Given the description of an element on the screen output the (x, y) to click on. 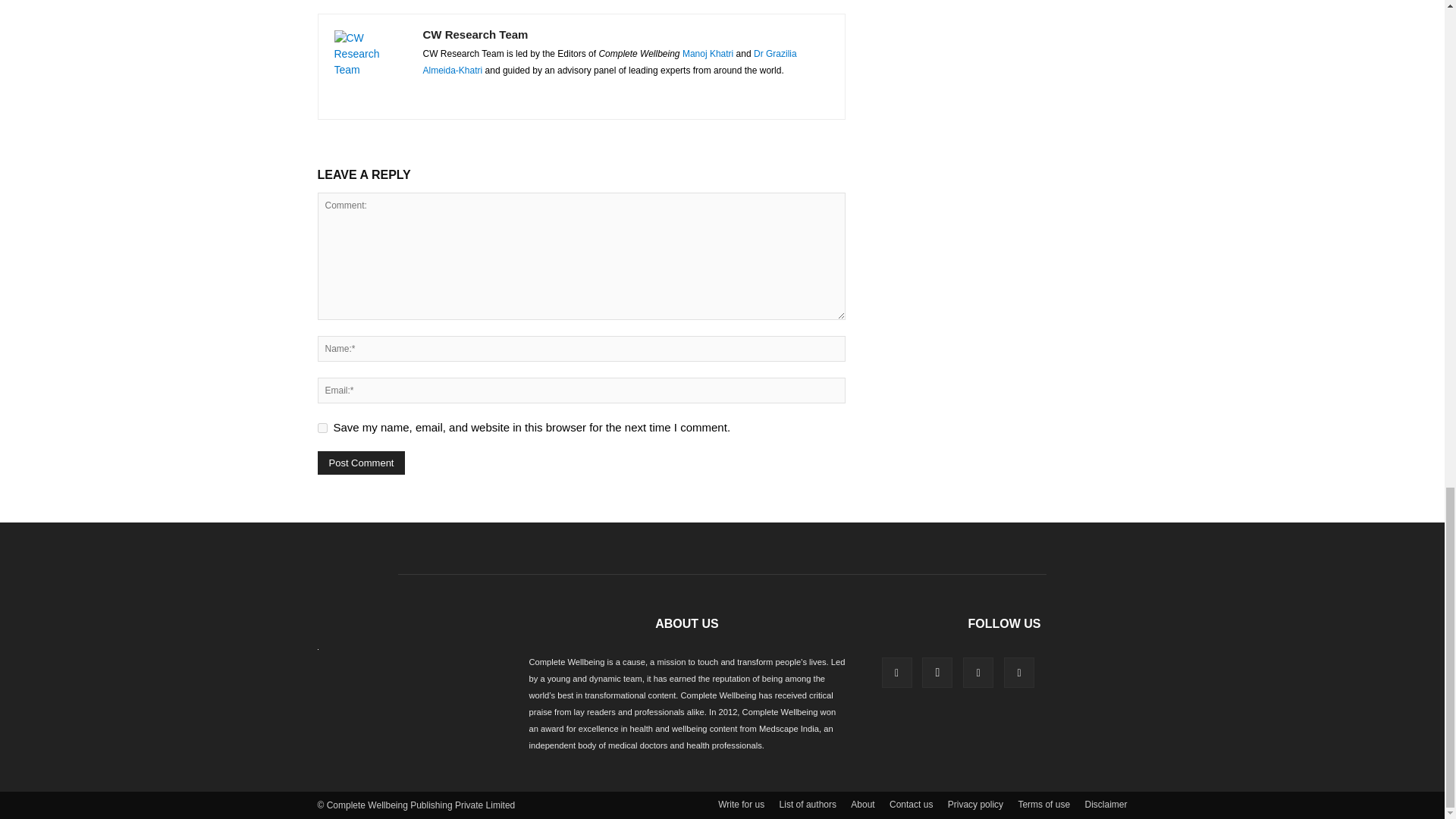
Post Comment (360, 463)
yes (321, 428)
